Given the description of an element on the screen output the (x, y) to click on. 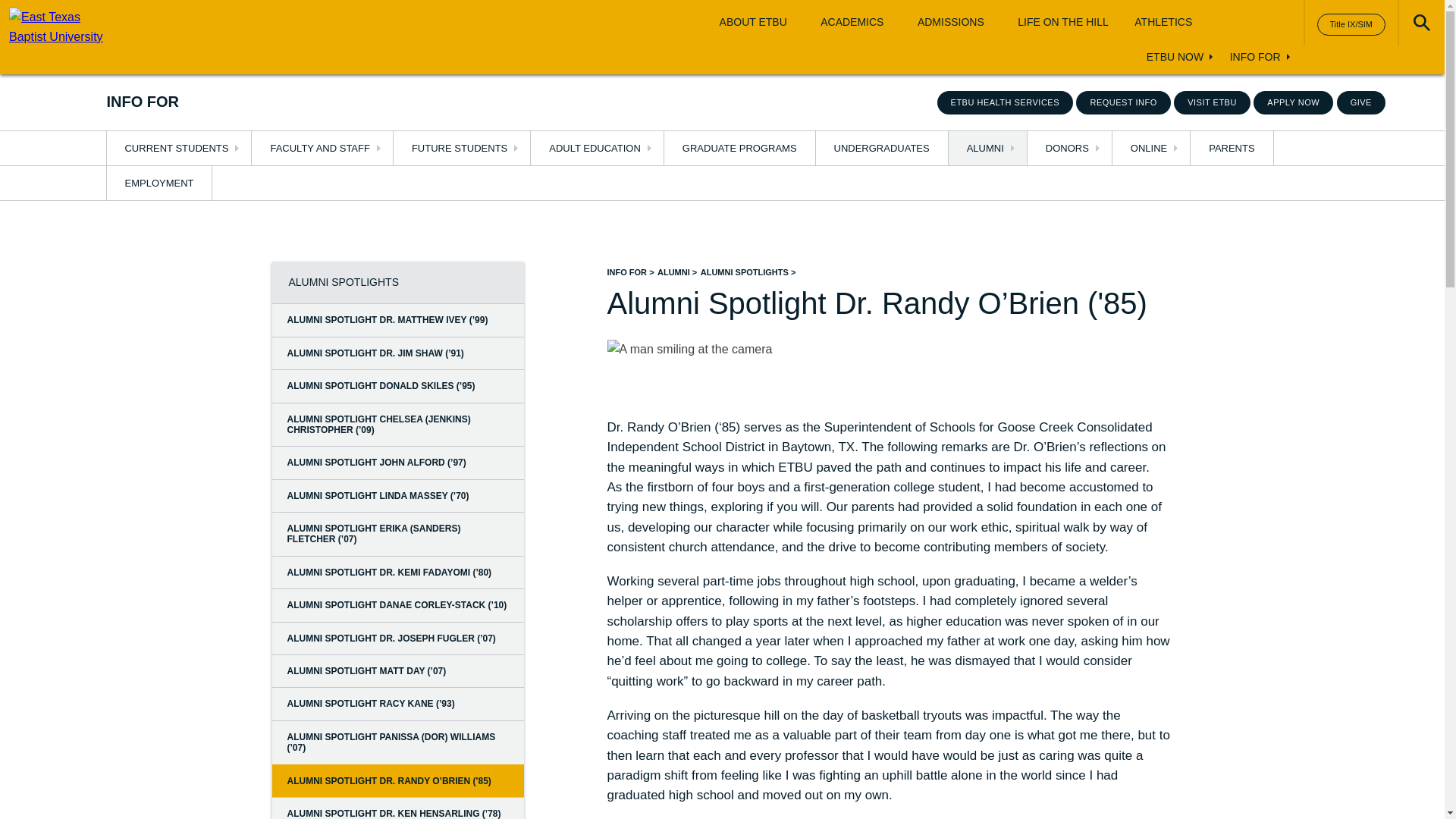
LIFE ON THE HILL (1063, 22)
REQUEST INFO (1122, 102)
ABOUT ETBU (752, 22)
CURRENT STUDENTS (178, 148)
ACADEMICS (851, 22)
INFO FOR (1255, 57)
ETBU Health Services (1005, 102)
VISIT ETBU (1211, 102)
APPLY NOW (1293, 102)
